Given the description of an element on the screen output the (x, y) to click on. 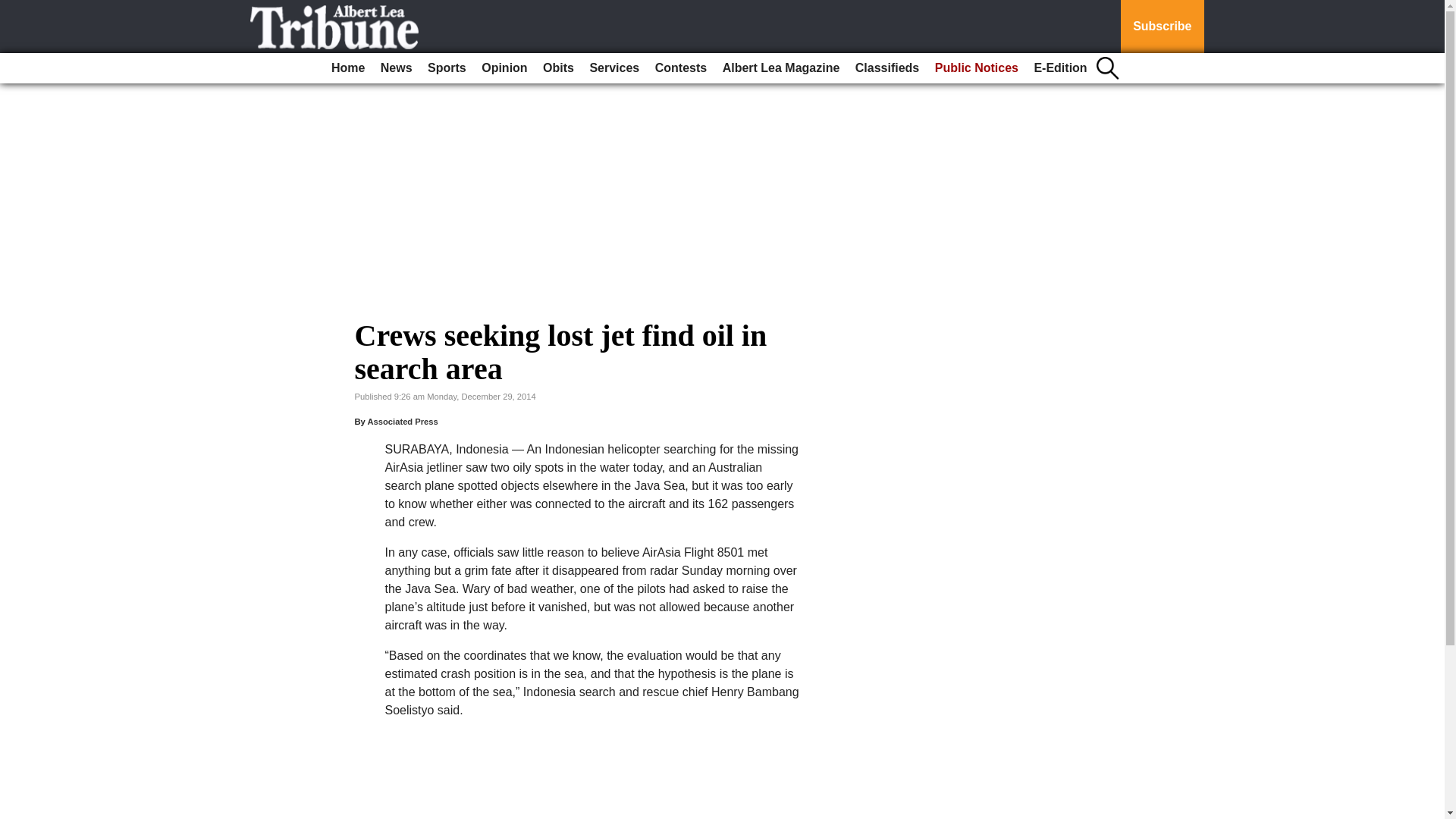
Home (347, 68)
Subscribe (1162, 26)
Obits (558, 68)
Services (614, 68)
Sports (446, 68)
News (396, 68)
Opinion (504, 68)
